Given the description of an element on the screen output the (x, y) to click on. 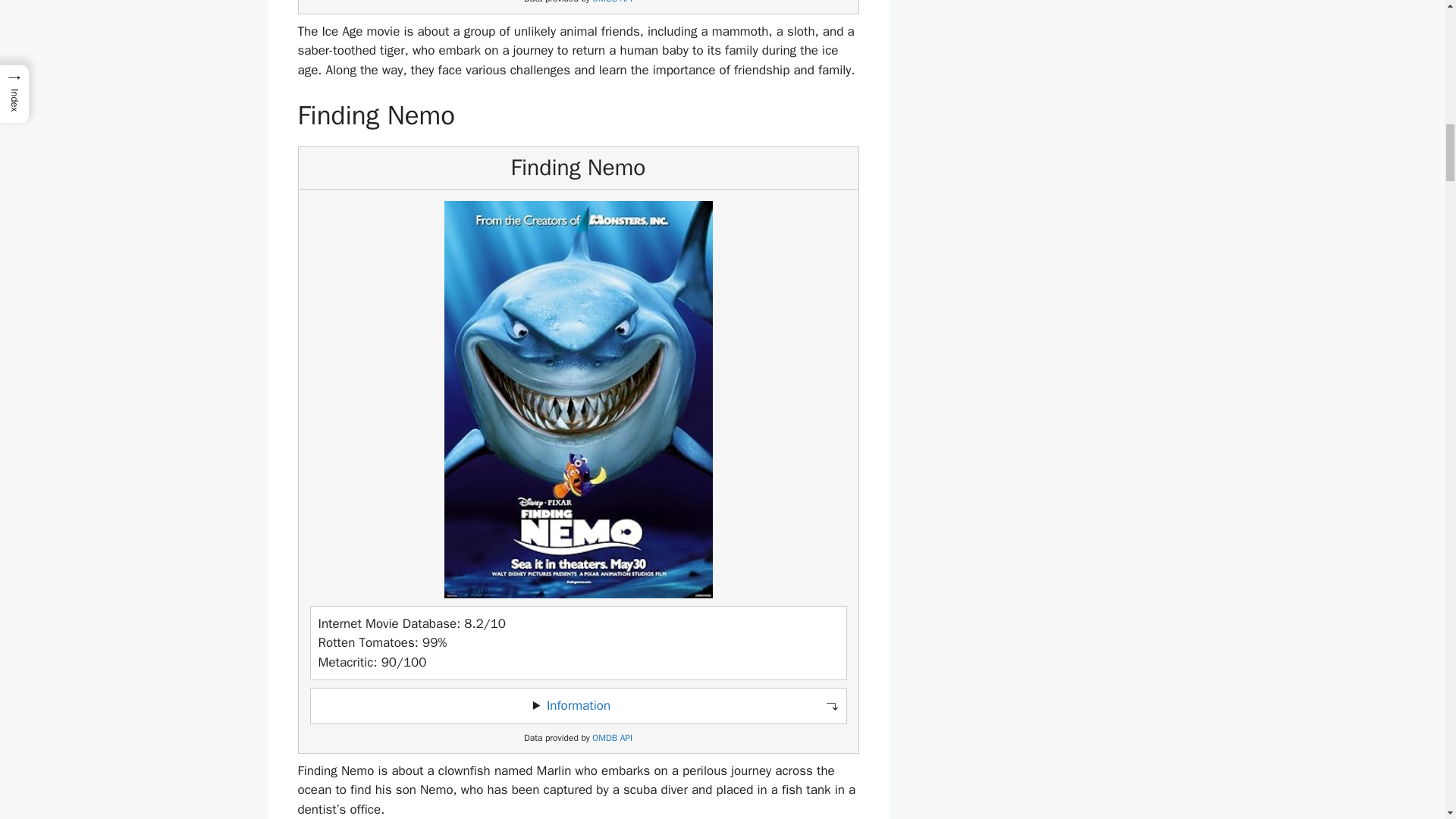
Open Movie Database API (611, 2)
Toggle information (578, 705)
Information (578, 705)
OMDB API (611, 2)
OMDB API (611, 737)
Open Movie Database API (611, 737)
